Given the description of an element on the screen output the (x, y) to click on. 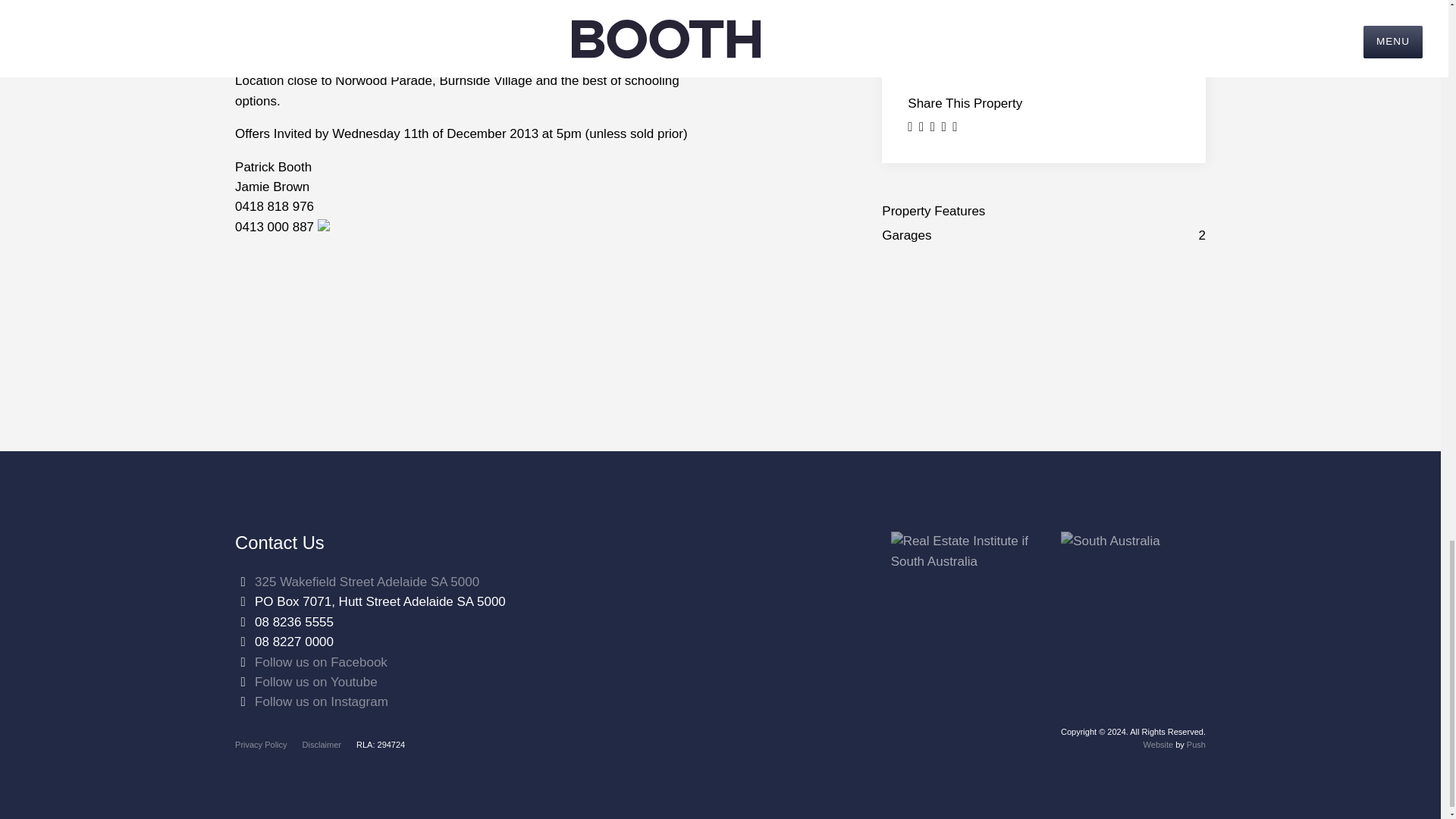
Disclaimer (321, 744)
Follow us on Youtube (315, 681)
Privacy Policy (260, 744)
Follow us on Instagram (321, 701)
325 Wakefield Street Adelaide SA 5000 (366, 581)
ENQUIRE ABOUT THIS PROPERTY (1043, 1)
Follow us on Facebook (320, 662)
